Given the description of an element on the screen output the (x, y) to click on. 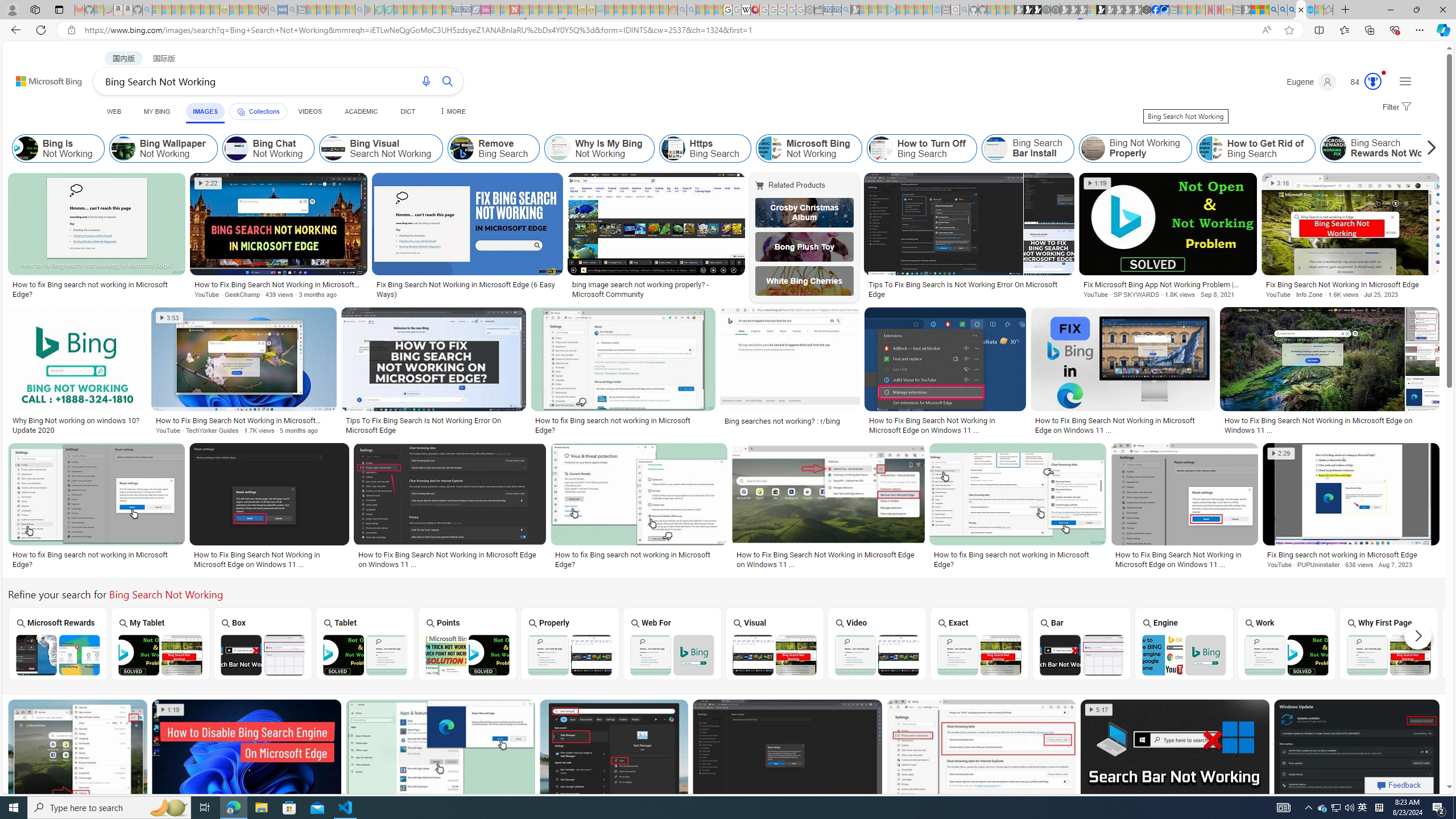
Remove Bing Search (461, 148)
Bing Search Bar Not Working Bar (1081, 643)
Visual (774, 643)
Bing Chat Not Working (236, 148)
Bing Chat Not Working (268, 148)
Bing Is Not Working (25, 148)
How to Get Rid of Bing Search (1210, 148)
Settings and quick links (1404, 80)
